Given the description of an element on the screen output the (x, y) to click on. 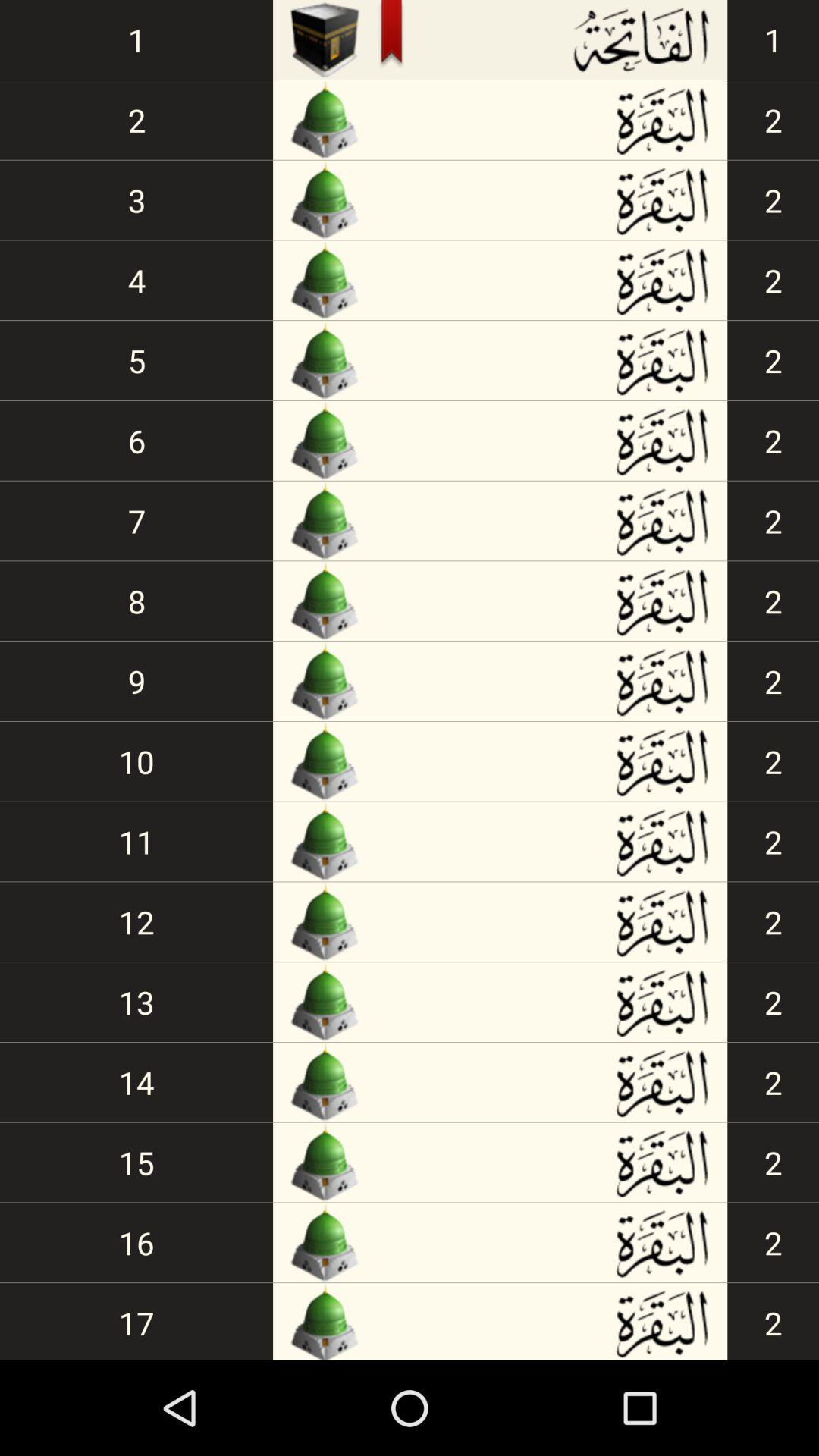
choose the 9 (136, 681)
